Given the description of an element on the screen output the (x, y) to click on. 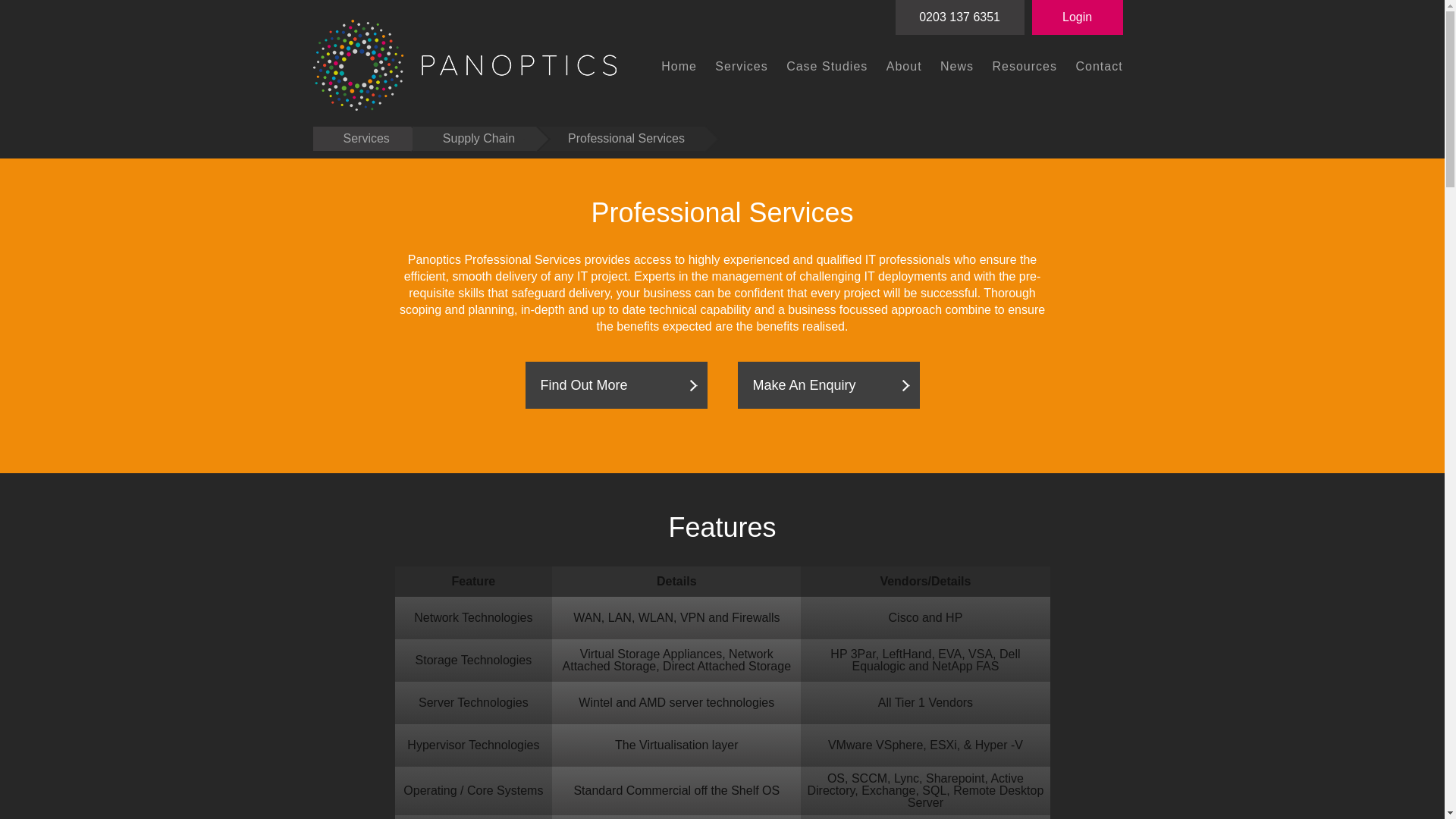
Go to Services. (361, 138)
0203 137 6351 (960, 17)
Services (740, 66)
Login (1077, 17)
Go to Supply Chain. (473, 138)
Resources (1024, 66)
News (957, 66)
About (904, 66)
Home (678, 66)
